Given the description of an element on the screen output the (x, y) to click on. 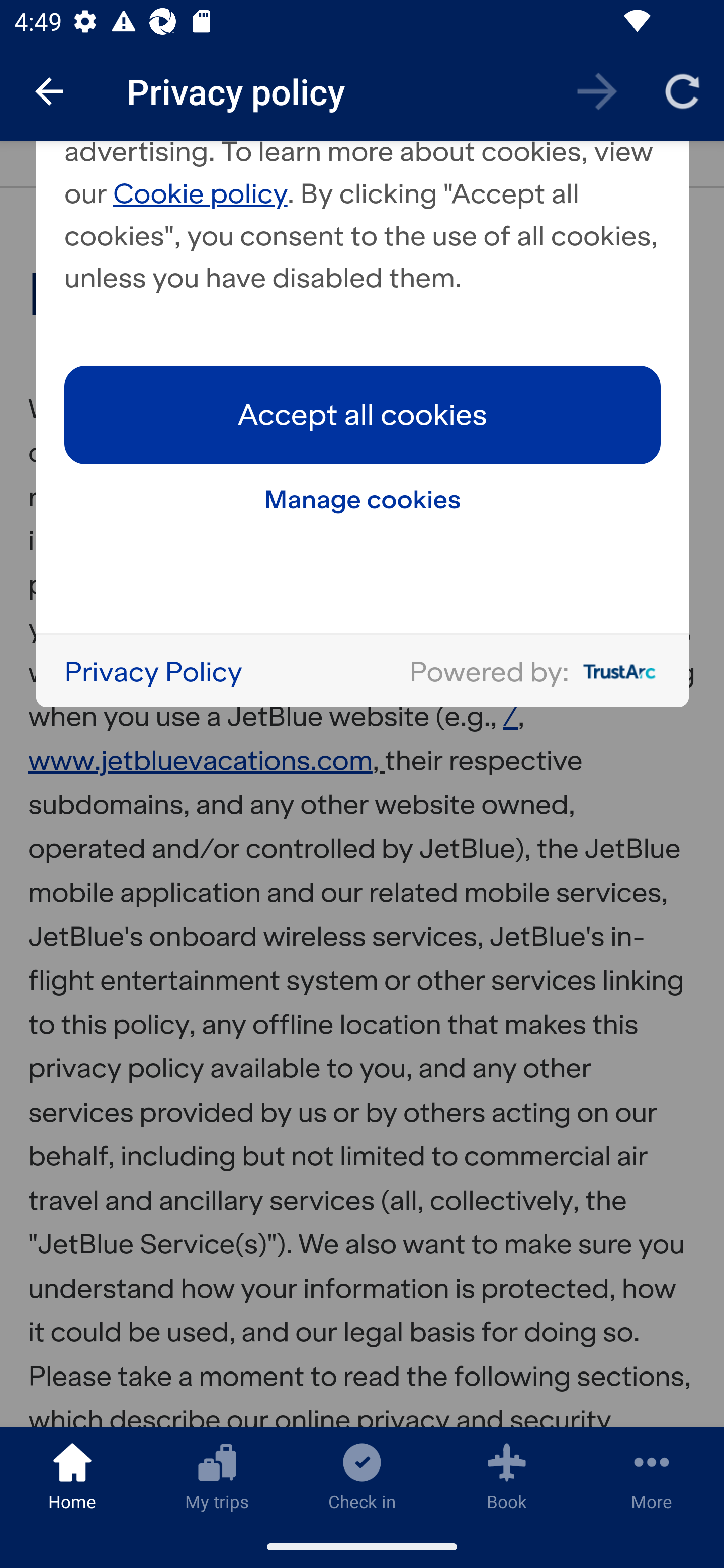
Navigate up (49, 91)
Forward (597, 90)
Reload (681, 90)
Cookie policy (200, 193)
Accept all cookies (362, 414)
Manage cookies (362, 499)
Privacy Policy (152, 671)
Company logo for TrustArc (614, 670)
My trips (216, 1475)
Check in (361, 1475)
Book (506, 1475)
More (651, 1475)
